Given the description of an element on the screen output the (x, y) to click on. 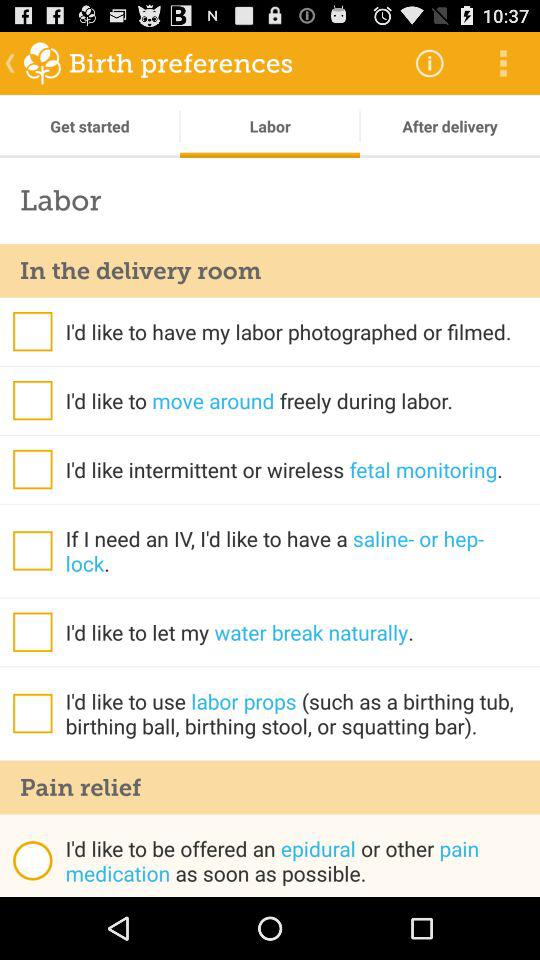
empty check box (32, 713)
